Given the description of an element on the screen output the (x, y) to click on. 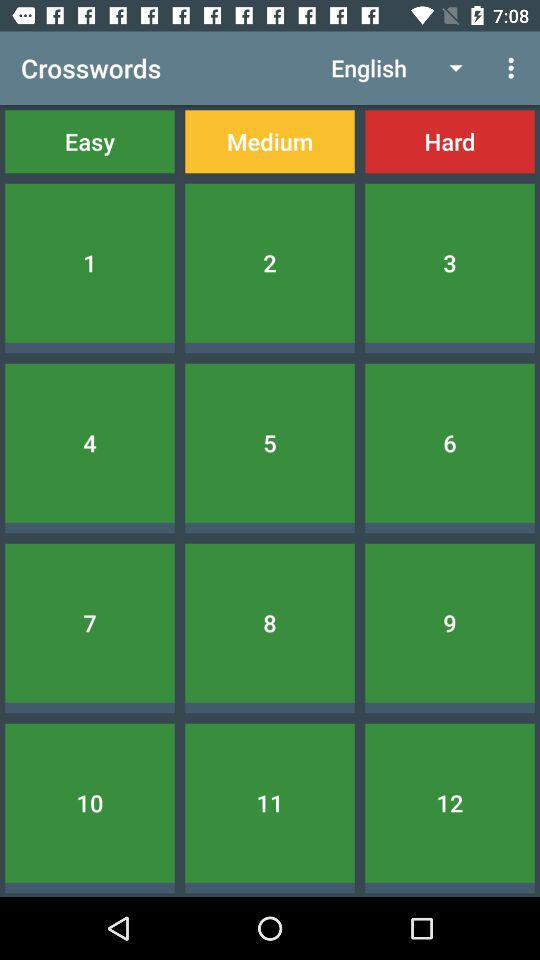
scroll to 10 icon (89, 802)
